Given the description of an element on the screen output the (x, y) to click on. 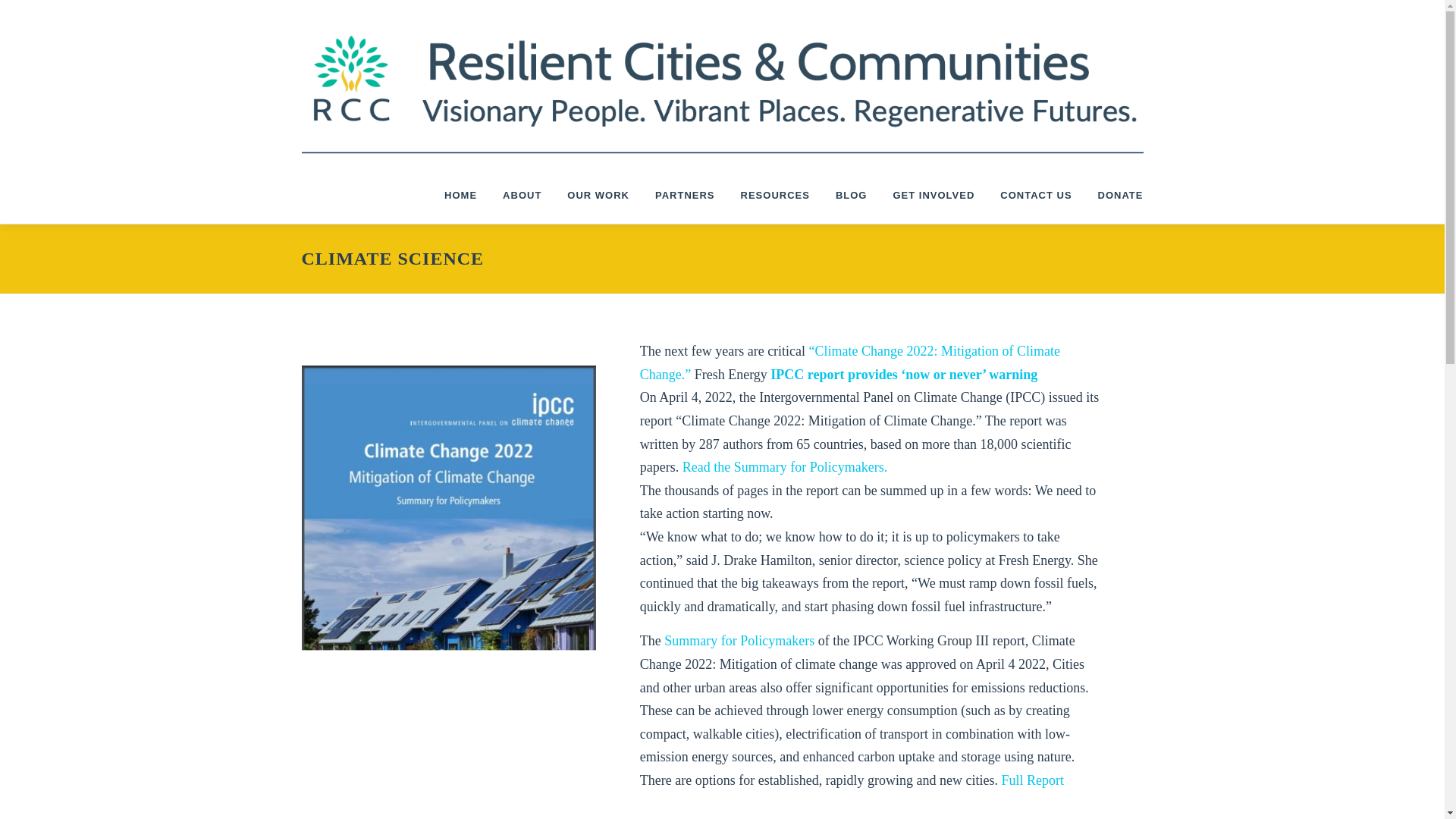
HOME (459, 195)
OUR WORK (598, 195)
Skip to content (34, 9)
ABOUT (521, 195)
